Given the description of an element on the screen output the (x, y) to click on. 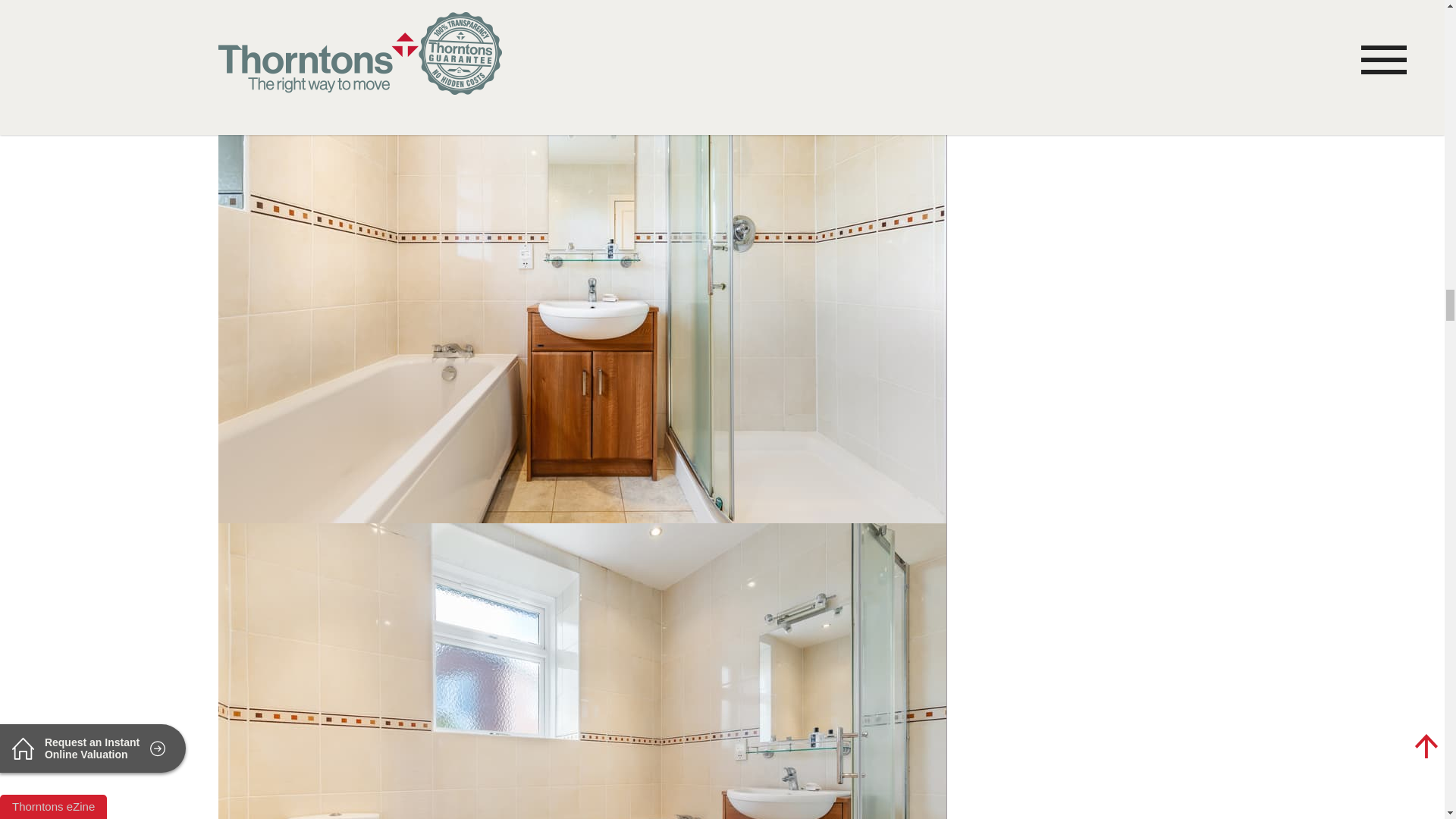
Picture 15 of 24 (582, 18)
